Given the description of an element on the screen output the (x, y) to click on. 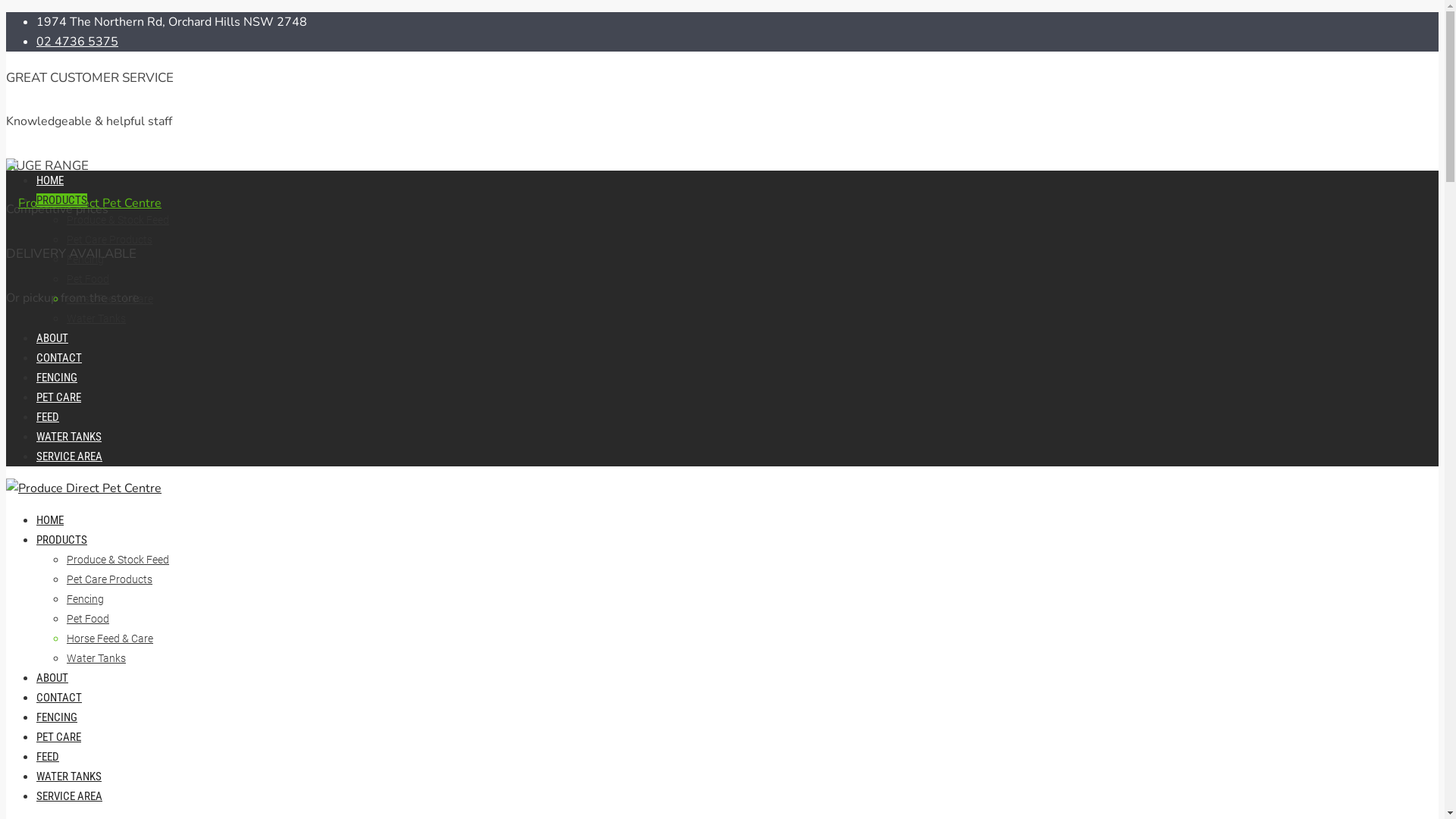
ABOUT Element type: text (52, 338)
SERVICE AREA Element type: text (69, 796)
PET CARE Element type: text (58, 397)
HOME Element type: text (49, 180)
FENCING Element type: text (56, 377)
PRODUCTS Element type: text (61, 539)
ABOUT Element type: text (52, 677)
Fencing Element type: text (84, 259)
WATER TANKS Element type: text (68, 436)
WATER TANKS Element type: text (68, 776)
Pet Food Element type: text (87, 279)
Produce & Stock Feed Element type: text (117, 559)
Pet Care Products Element type: text (109, 579)
FEED Element type: text (47, 756)
02 4736 5375 Element type: text (77, 41)
CONTACT Element type: text (58, 357)
Horse Feed & Care Element type: text (109, 298)
CONTACT Element type: text (58, 697)
Pet Care Products Element type: text (109, 239)
Pet Food Element type: text (87, 618)
PET CARE Element type: text (58, 736)
PRODUCTS Element type: text (61, 200)
Fencing Element type: text (84, 599)
Water Tanks Element type: text (95, 318)
Produce & Stock Feed Element type: text (117, 219)
HOME Element type: text (49, 520)
Horse Feed & Care Element type: text (109, 638)
FEED Element type: text (47, 416)
SERVICE AREA Element type: text (69, 456)
Water Tanks Element type: text (95, 658)
FENCING Element type: text (56, 717)
